Given the description of an element on the screen output the (x, y) to click on. 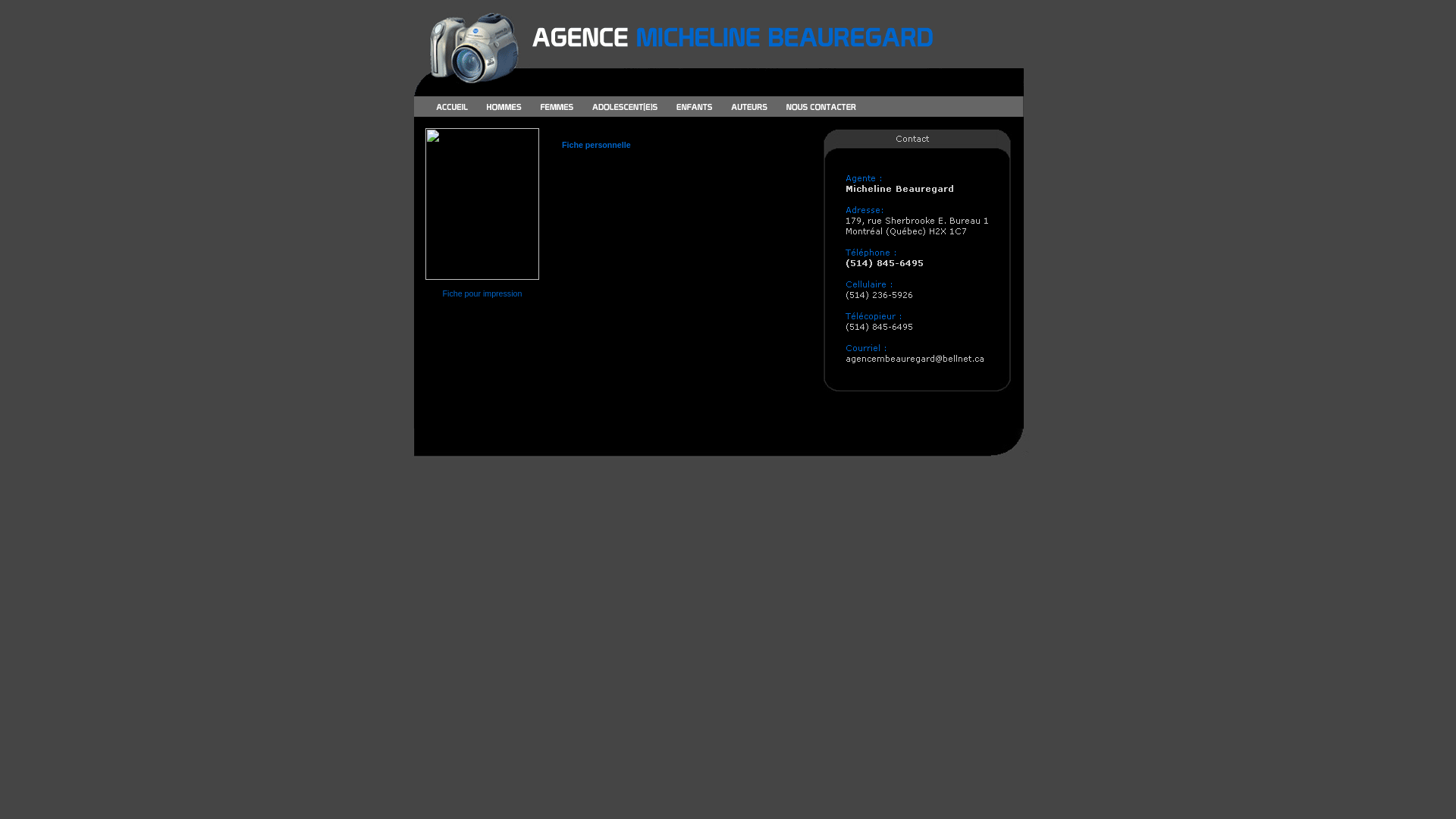
Fiche pour impression Element type: text (482, 293)
